Given the description of an element on the screen output the (x, y) to click on. 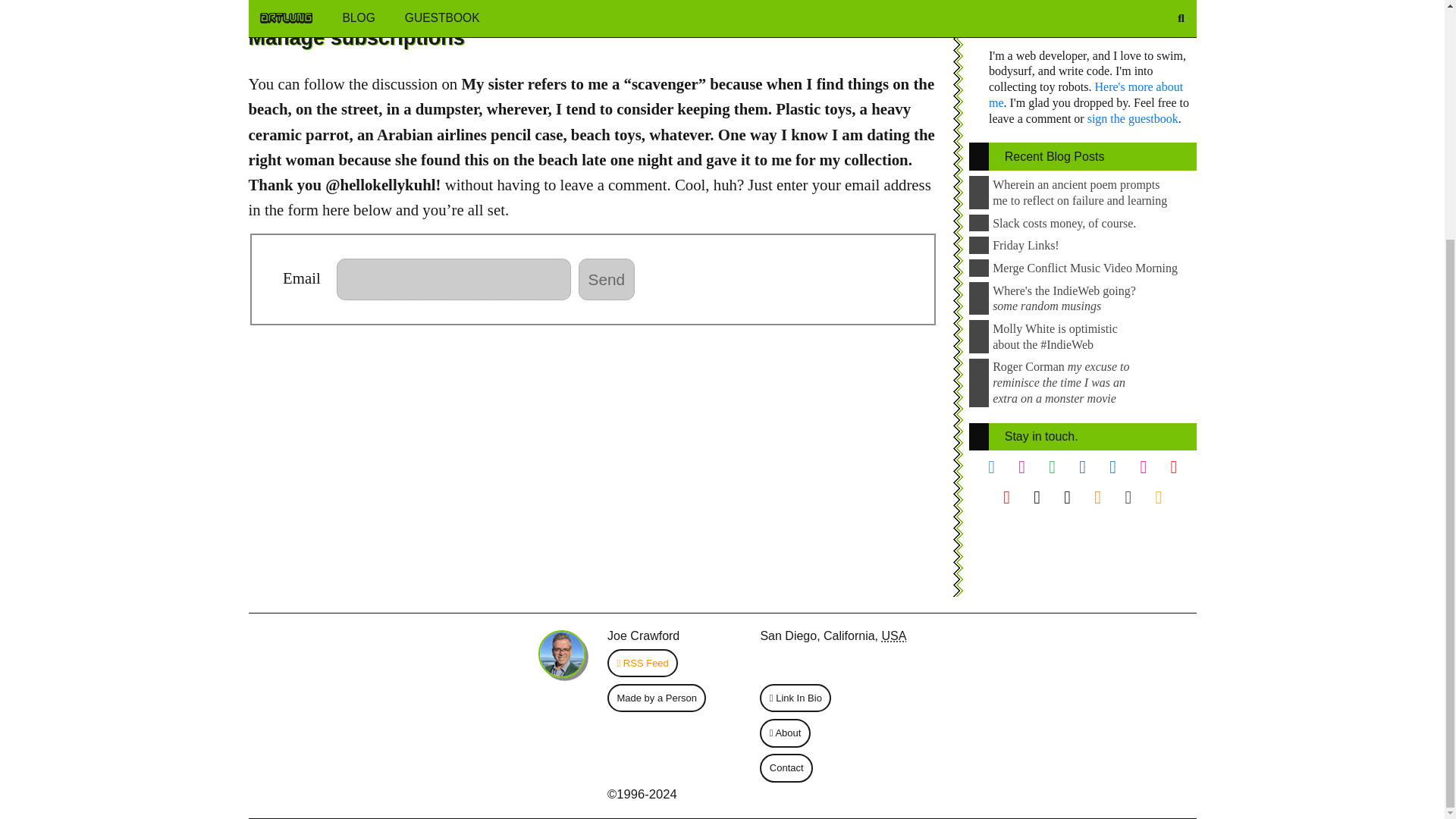
Manage subscriptions (356, 37)
Link In Bio (796, 697)
Contact (786, 767)
Send (606, 278)
Send (606, 278)
Joe Crawford (643, 635)
RSS Feed (641, 663)
About (786, 732)
